Given the description of an element on the screen output the (x, y) to click on. 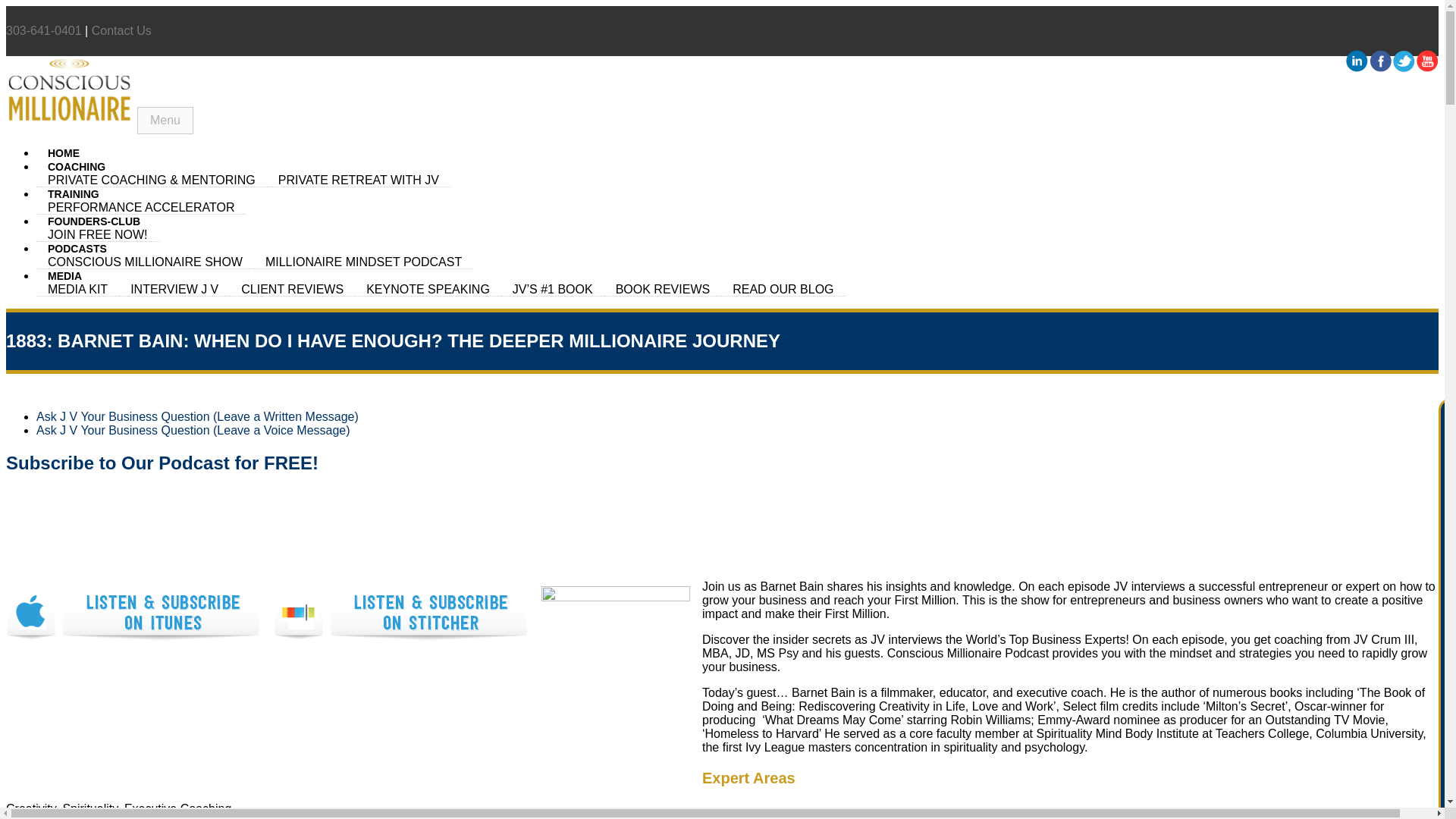
PRIVATE RETREAT WITH JV (357, 180)
MEDIA KIT (77, 289)
KEYNOTE SPEAKING (427, 289)
Contact Us (121, 30)
Subscribe to Our Podcast for FREE! (161, 462)
COACHING (76, 166)
CONSCIOUS MILLIONAIRE SHOW (144, 262)
FOUNDERS-CLUB (93, 221)
PODCASTS (76, 248)
MILLIONAIRE MINDSET PODCAST (363, 262)
